Given the description of an element on the screen output the (x, y) to click on. 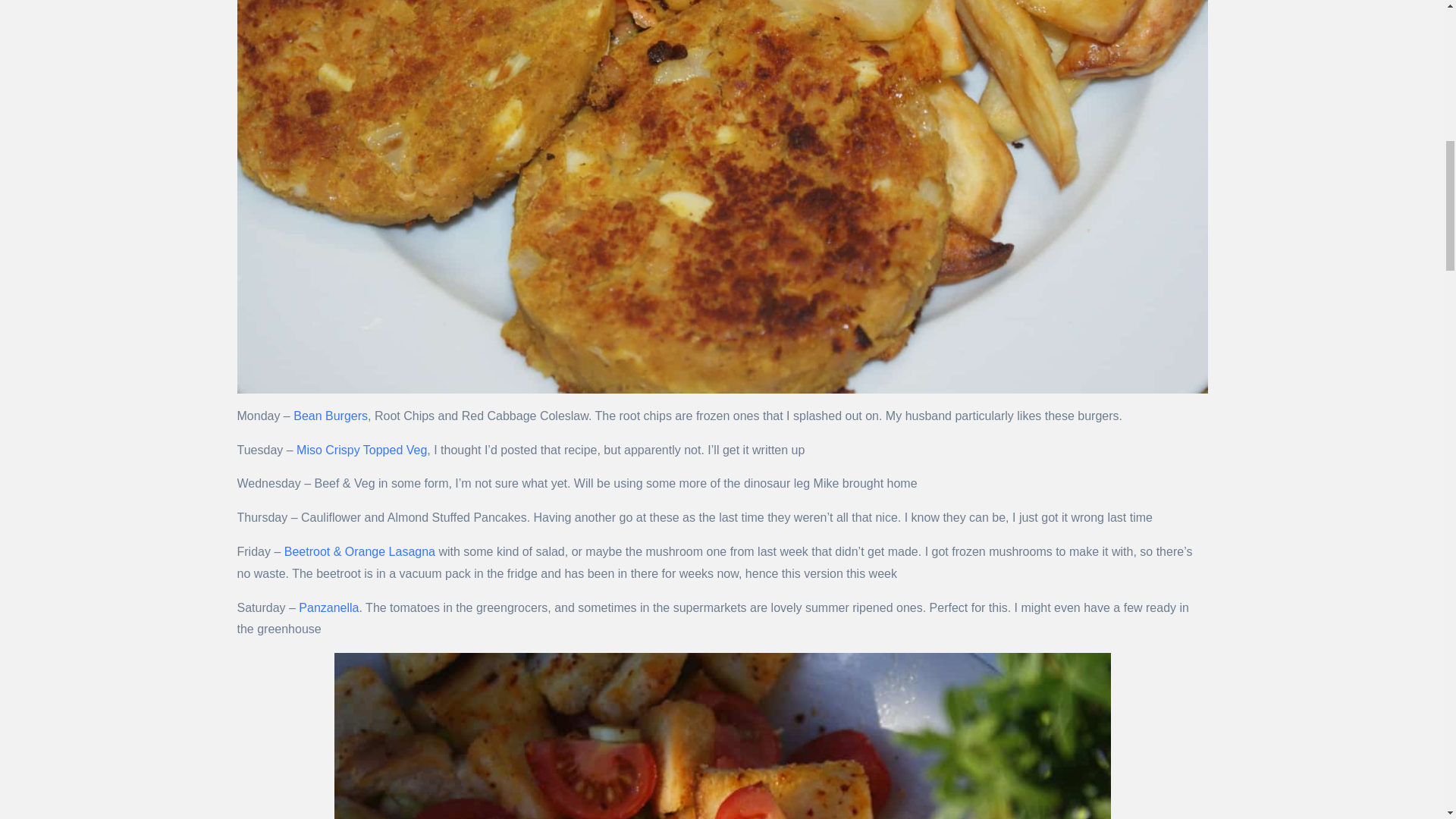
Panzanella (328, 607)
Miso Crispy Topped Veg (361, 449)
Bean Burgers (331, 415)
